Given the description of an element on the screen output the (x, y) to click on. 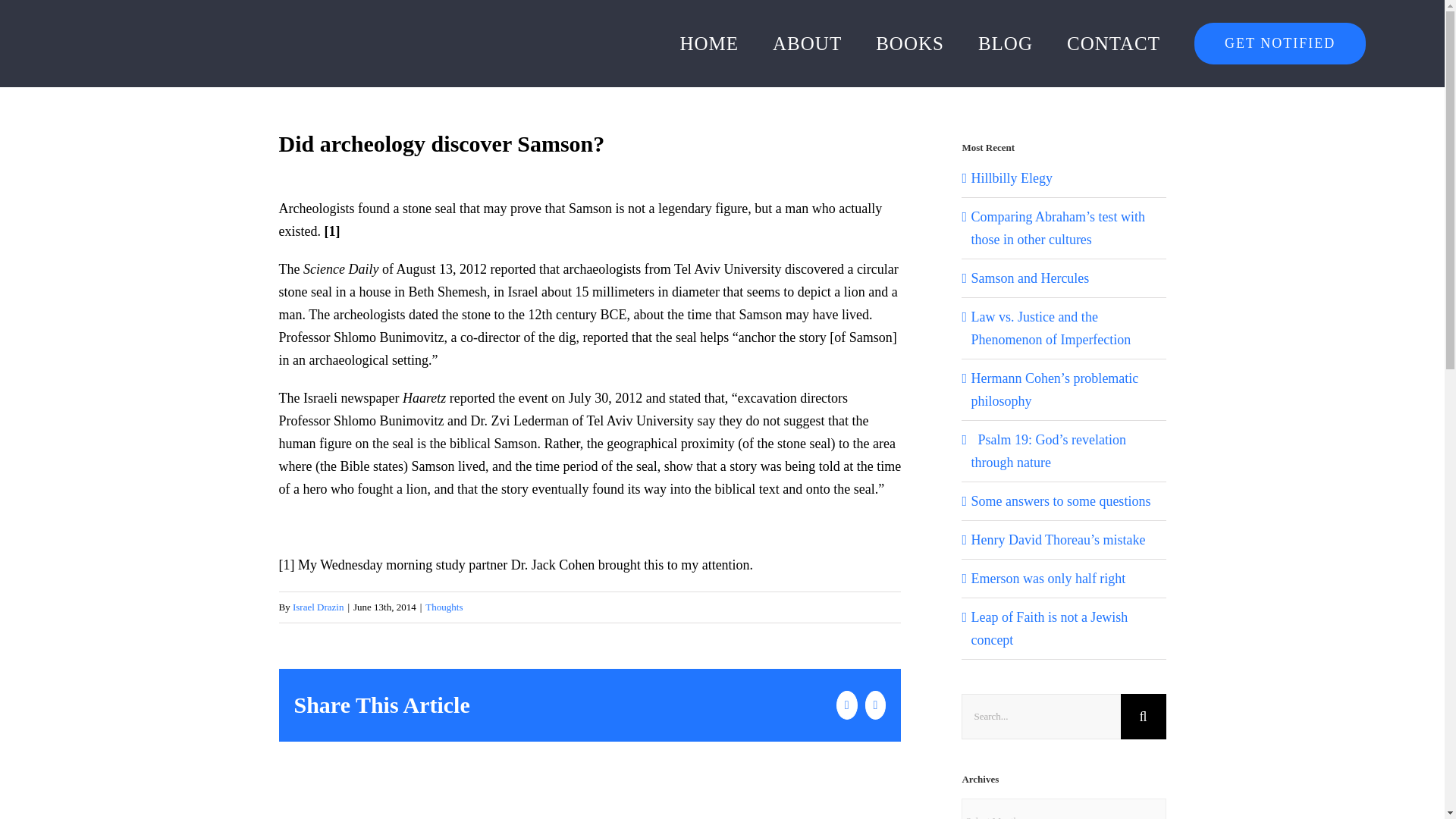
Leap of Faith is not a Jewish concept (1048, 628)
BOOKS (909, 42)
Some answers to some questions (1060, 500)
GET NOTIFIED (1279, 42)
Thoughts (444, 606)
Israel Drazin (317, 606)
Samson and Hercules (1030, 278)
Emerson was only half right (1048, 578)
Hillbilly Elegy (1011, 177)
BLOG (1005, 42)
ABOUT (807, 42)
CONTACT (1113, 42)
HOME (708, 42)
Posts by Israel Drazin (317, 606)
Law vs. Justice and the Phenomenon of Imperfection (1051, 328)
